Given the description of an element on the screen output the (x, y) to click on. 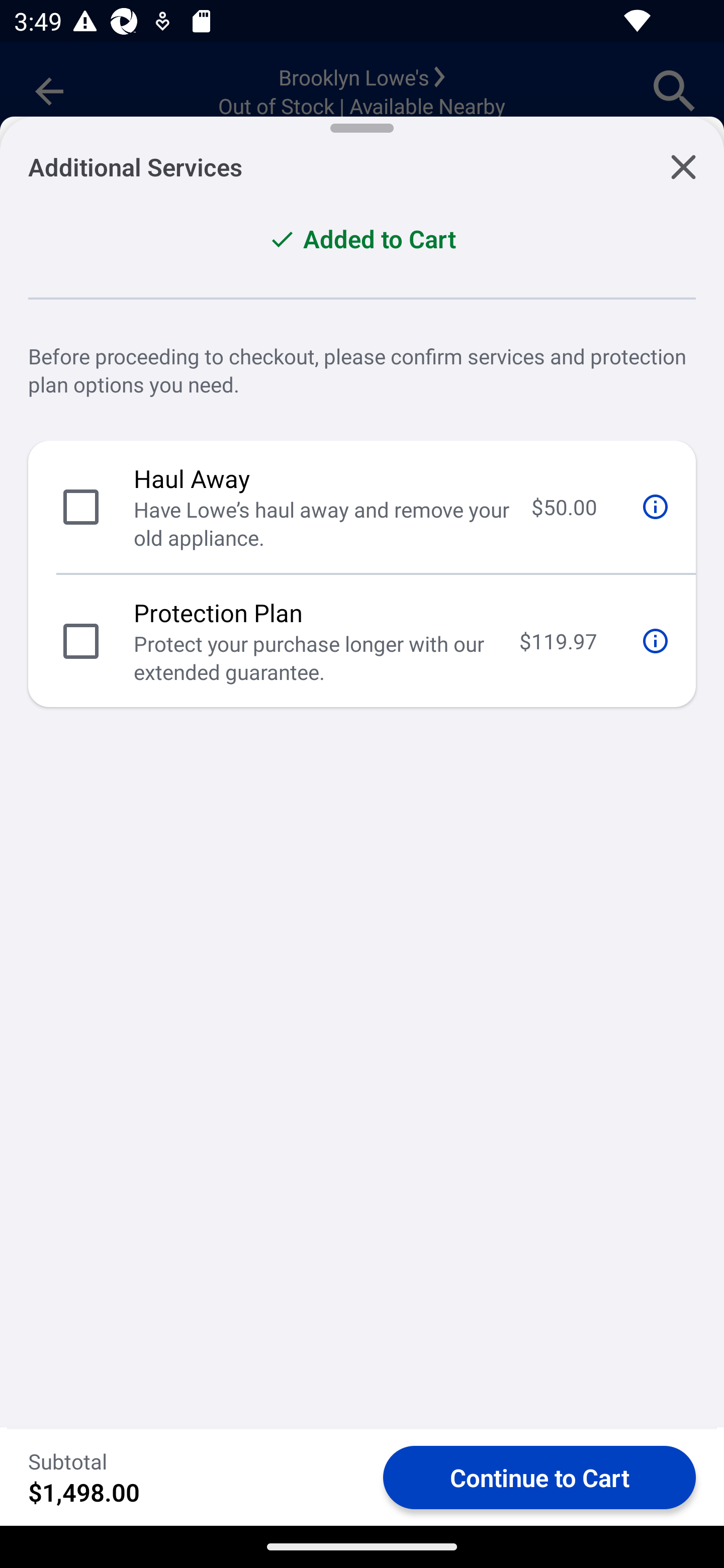
Close (682, 159)
Information (655, 506)
Information (655, 640)
Continue to Cart (538, 1476)
